Given the description of an element on the screen output the (x, y) to click on. 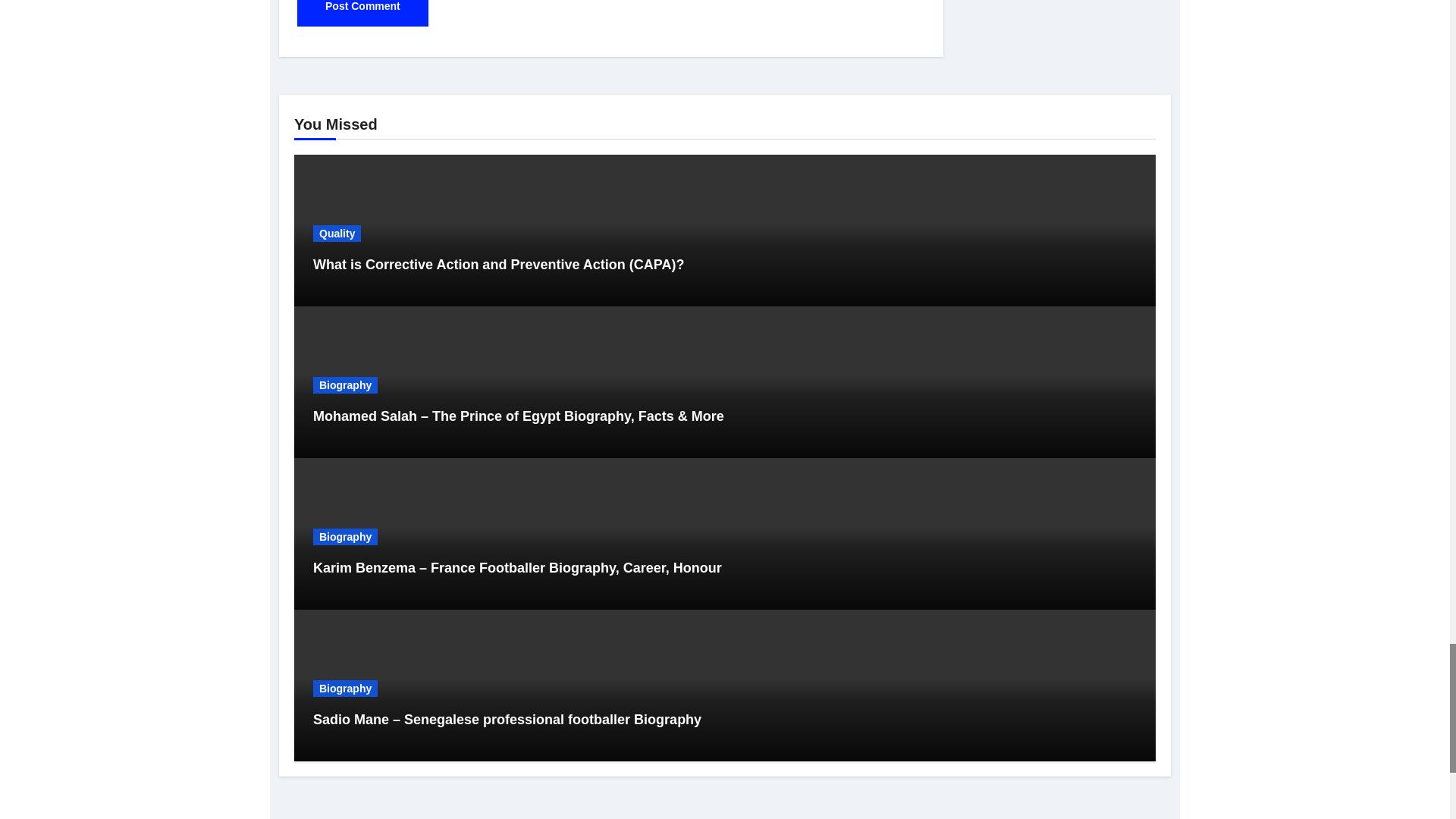
Post Comment (362, 13)
